Given the description of an element on the screen output the (x, y) to click on. 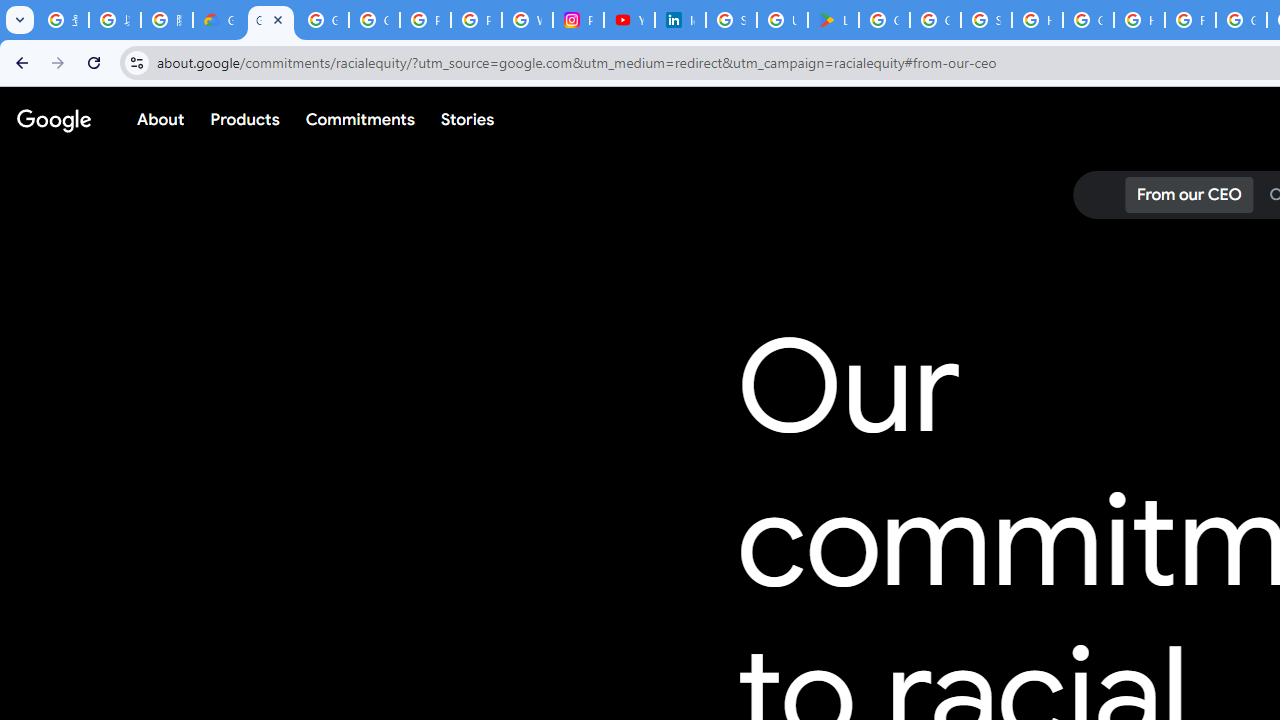
Sign in - Google Accounts (986, 20)
Google Workspace - Specific Terms (935, 20)
Products (245, 119)
Stories (467, 119)
